Given the description of an element on the screen output the (x, y) to click on. 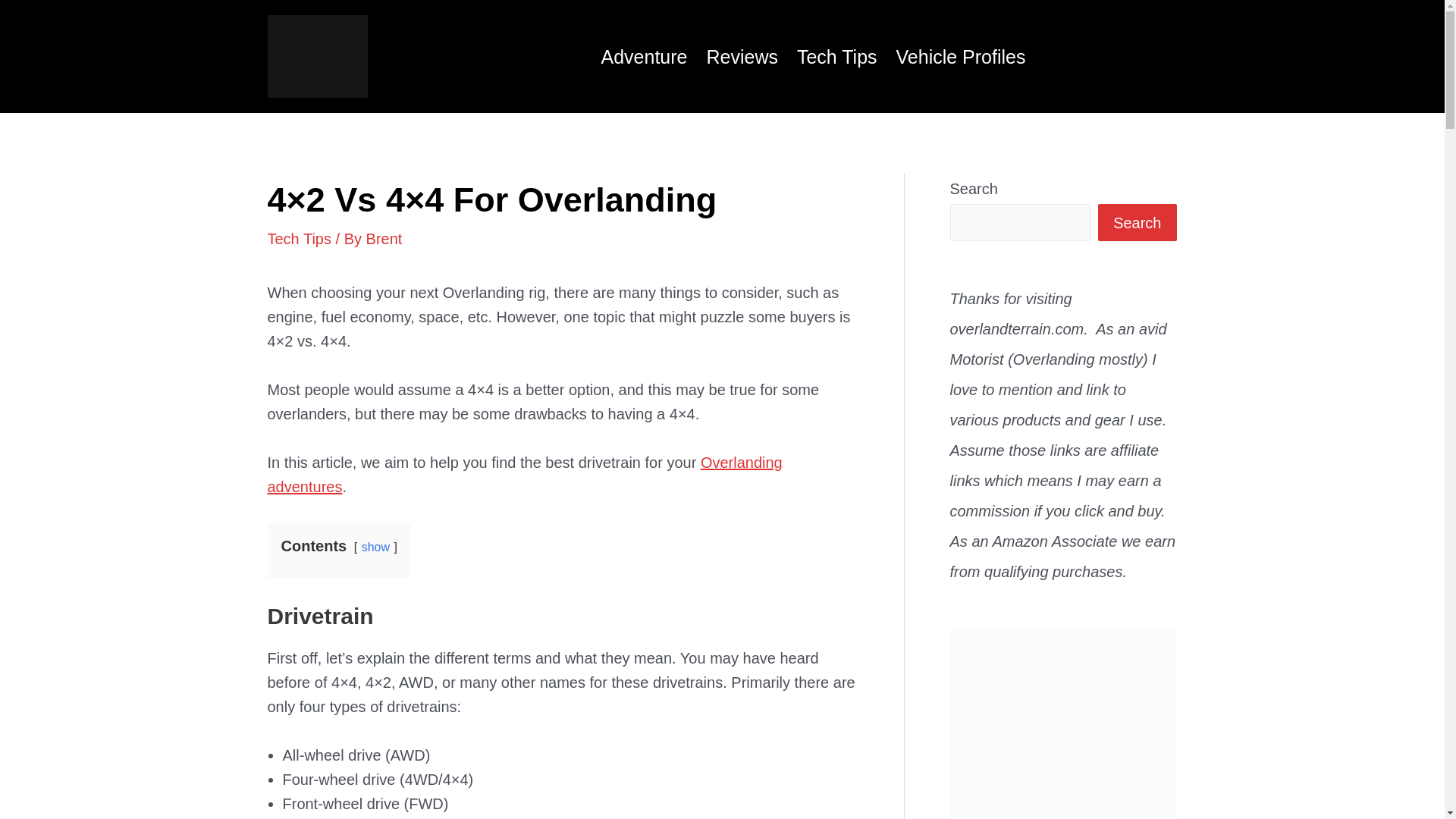
Vehicle Profiles (951, 56)
Tech Tips (827, 56)
Overlanding adventures (523, 474)
show (375, 546)
Adventure (634, 56)
View all posts by Brent (384, 238)
Brent (384, 238)
Tech Tips (298, 238)
Reviews (732, 56)
